Given the description of an element on the screen output the (x, y) to click on. 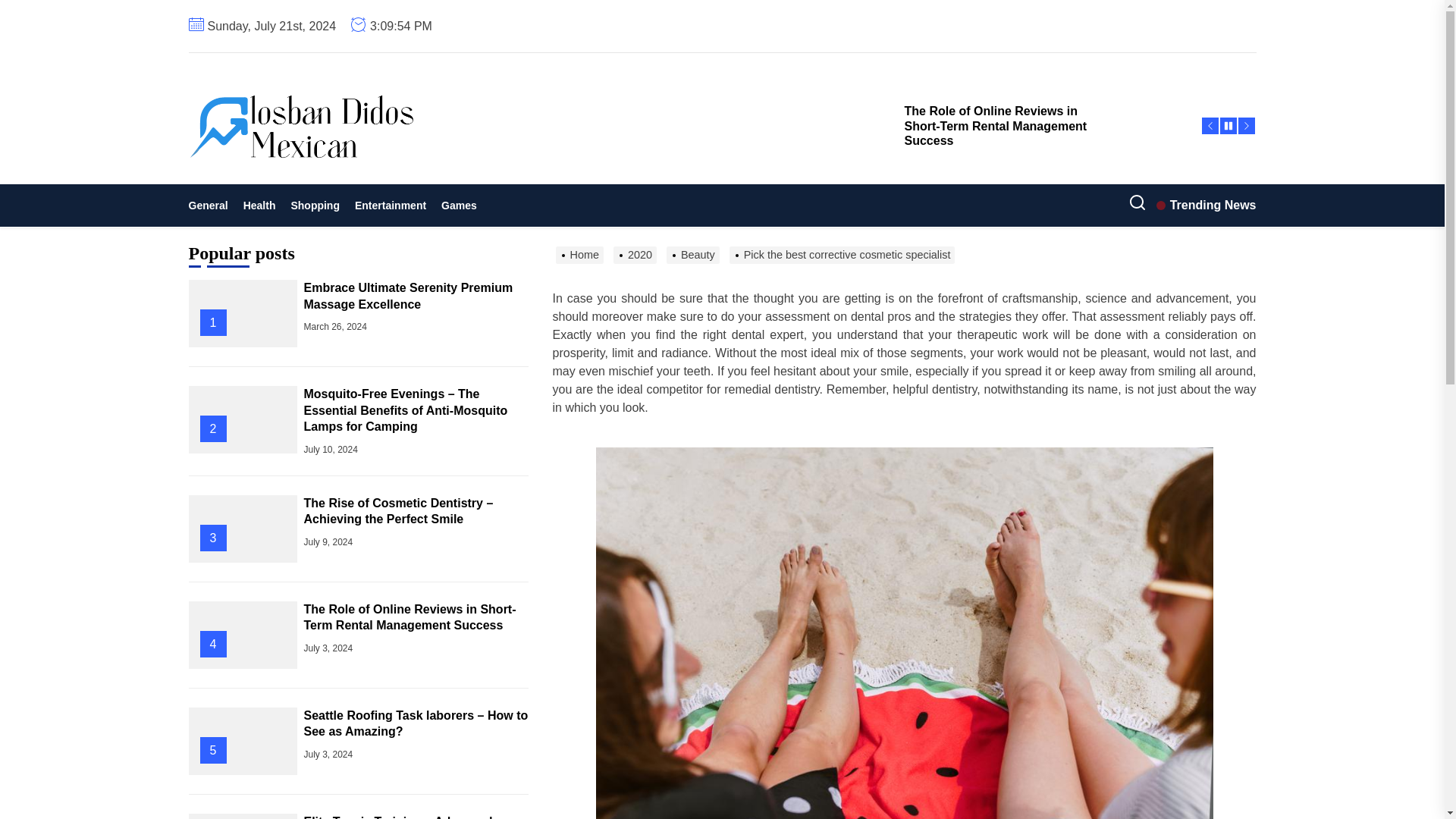
Games (458, 204)
Entertainment (390, 204)
Trending News (1206, 205)
General (210, 204)
Health (259, 204)
PHYSICAL FITNESS (368, 187)
Shopping (314, 204)
